Given the description of an element on the screen output the (x, y) to click on. 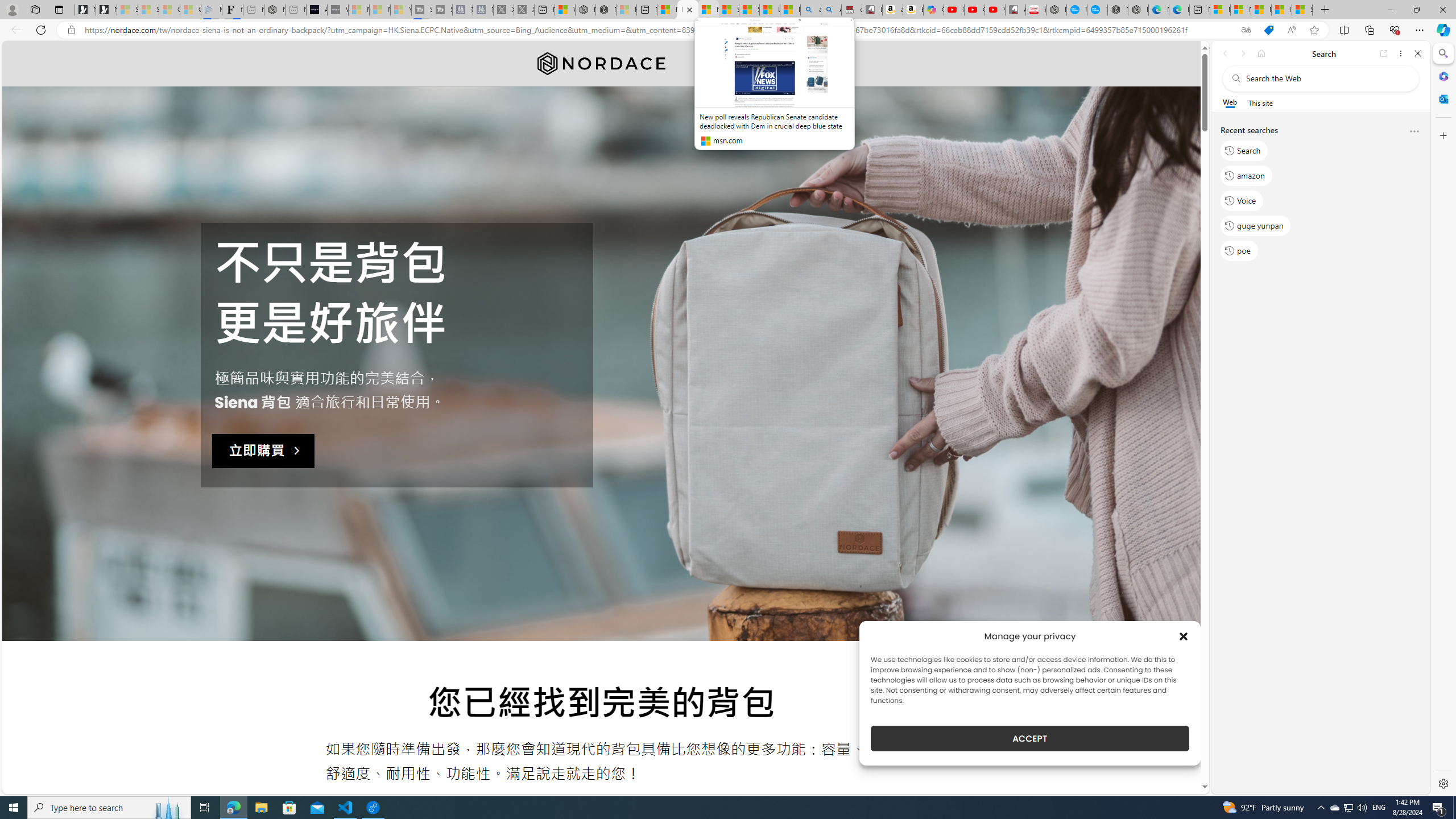
Side bar (1443, 418)
Nordace - My Account (1056, 9)
Settings (1442, 783)
Forward (1242, 53)
All Cubot phones (1015, 9)
Voice (1241, 200)
Gloom - YouTube (974, 9)
Search the web (1326, 78)
